Given the description of an element on the screen output the (x, y) to click on. 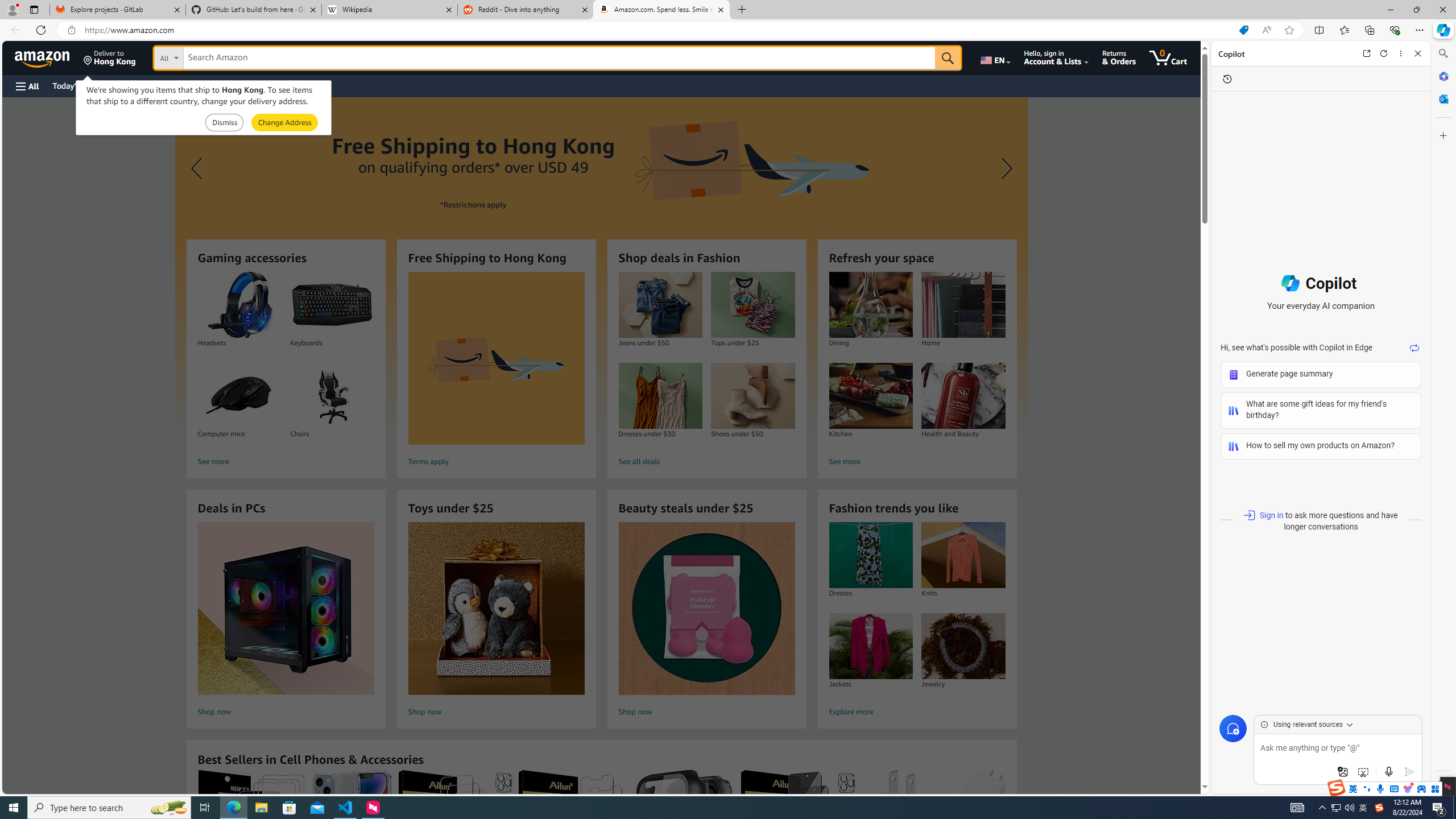
Toys under $25 Shop now (495, 620)
Today's Deals (76, 85)
Deliver to Hong Kong (109, 57)
Jeans under $50 (659, 304)
Toys under $25 (496, 608)
Free Shipping to Hong Kong (496, 357)
Chairs (331, 395)
Health and Beauty (963, 395)
Tops under $25 (753, 304)
